Given the description of an element on the screen output the (x, y) to click on. 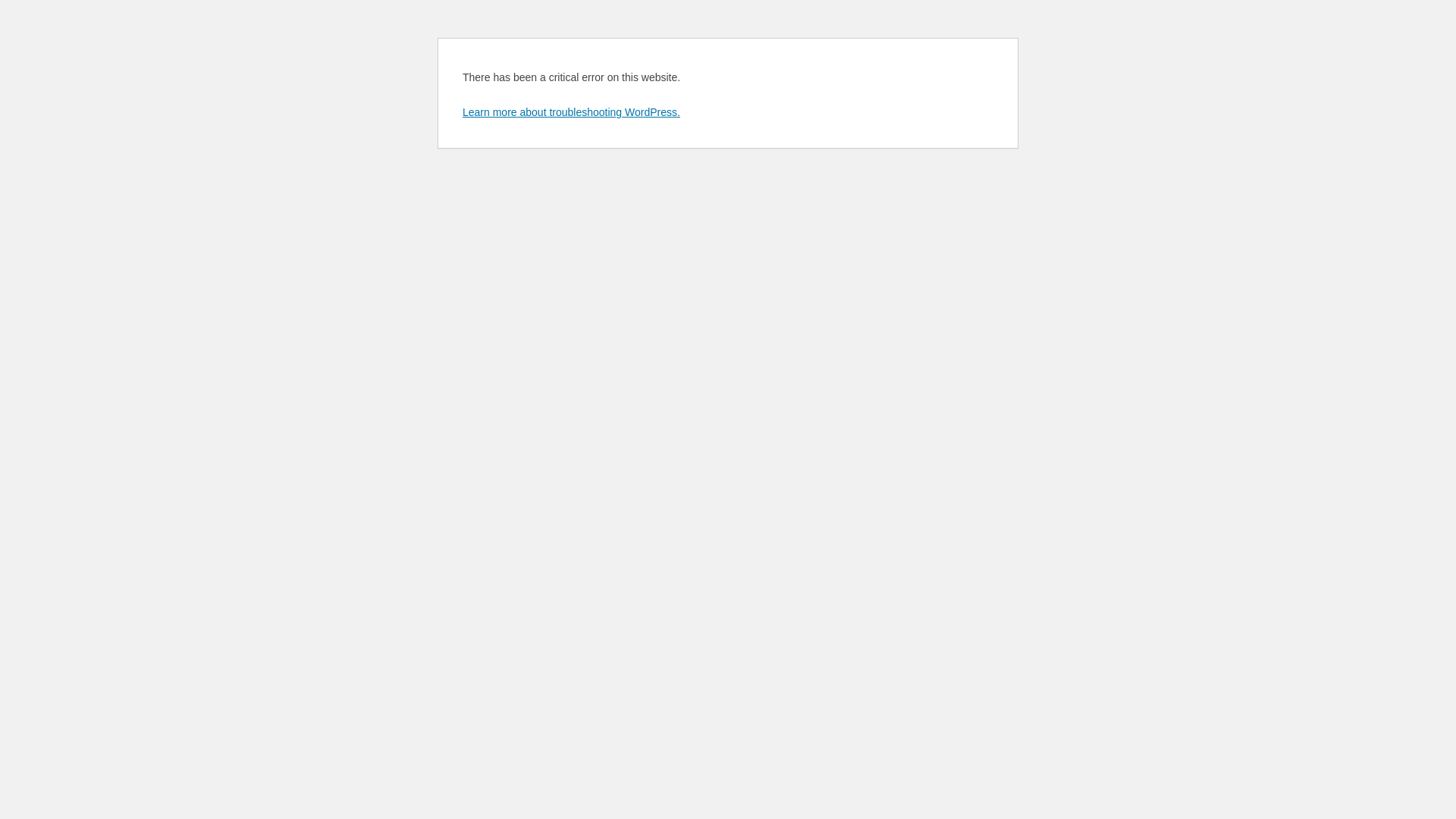
Learn more about troubleshooting WordPress. Element type: text (571, 112)
